Given the description of an element on the screen output the (x, y) to click on. 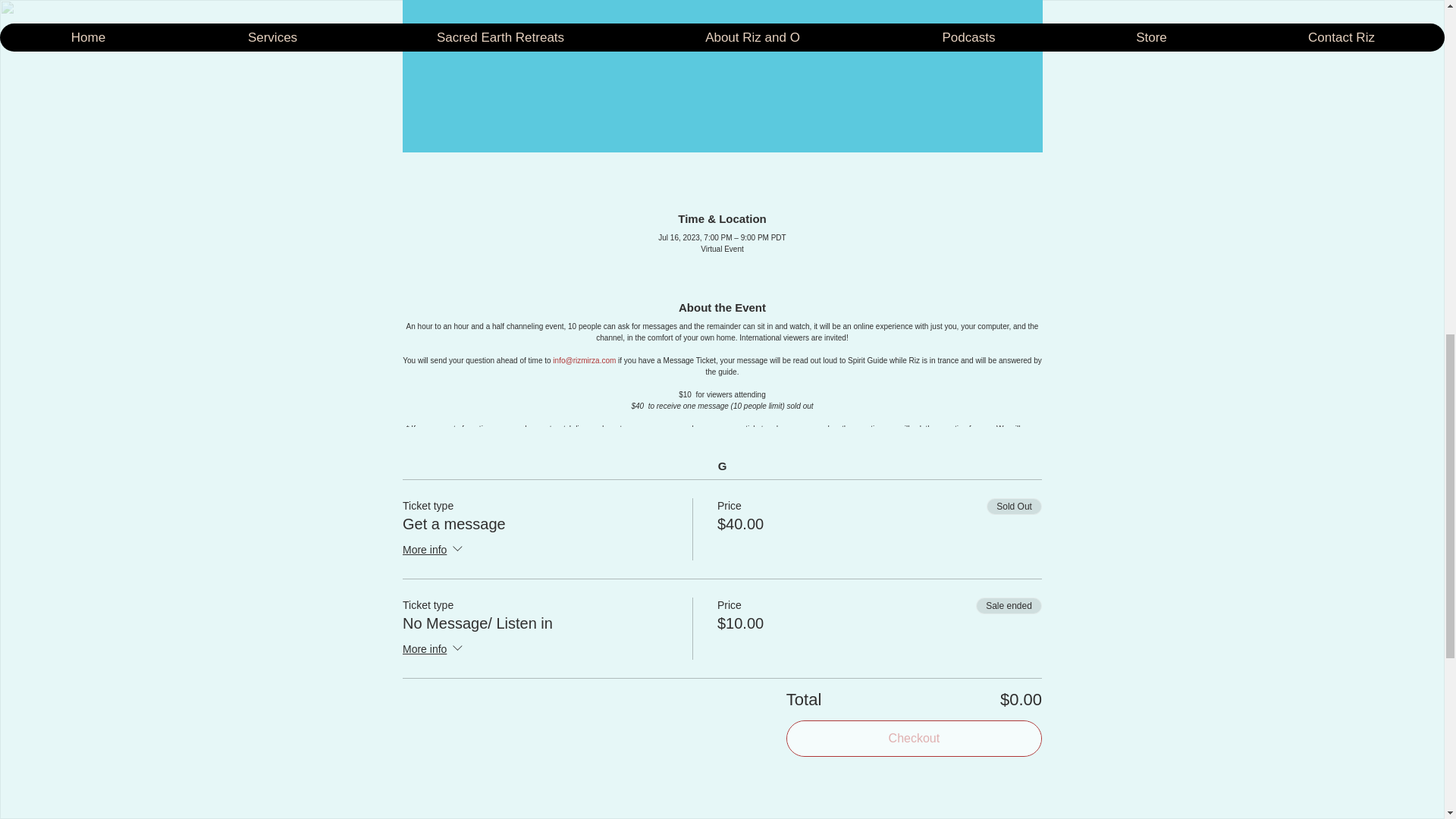
More info (434, 550)
More info (434, 649)
Checkout (914, 738)
